Given the description of an element on the screen output the (x, y) to click on. 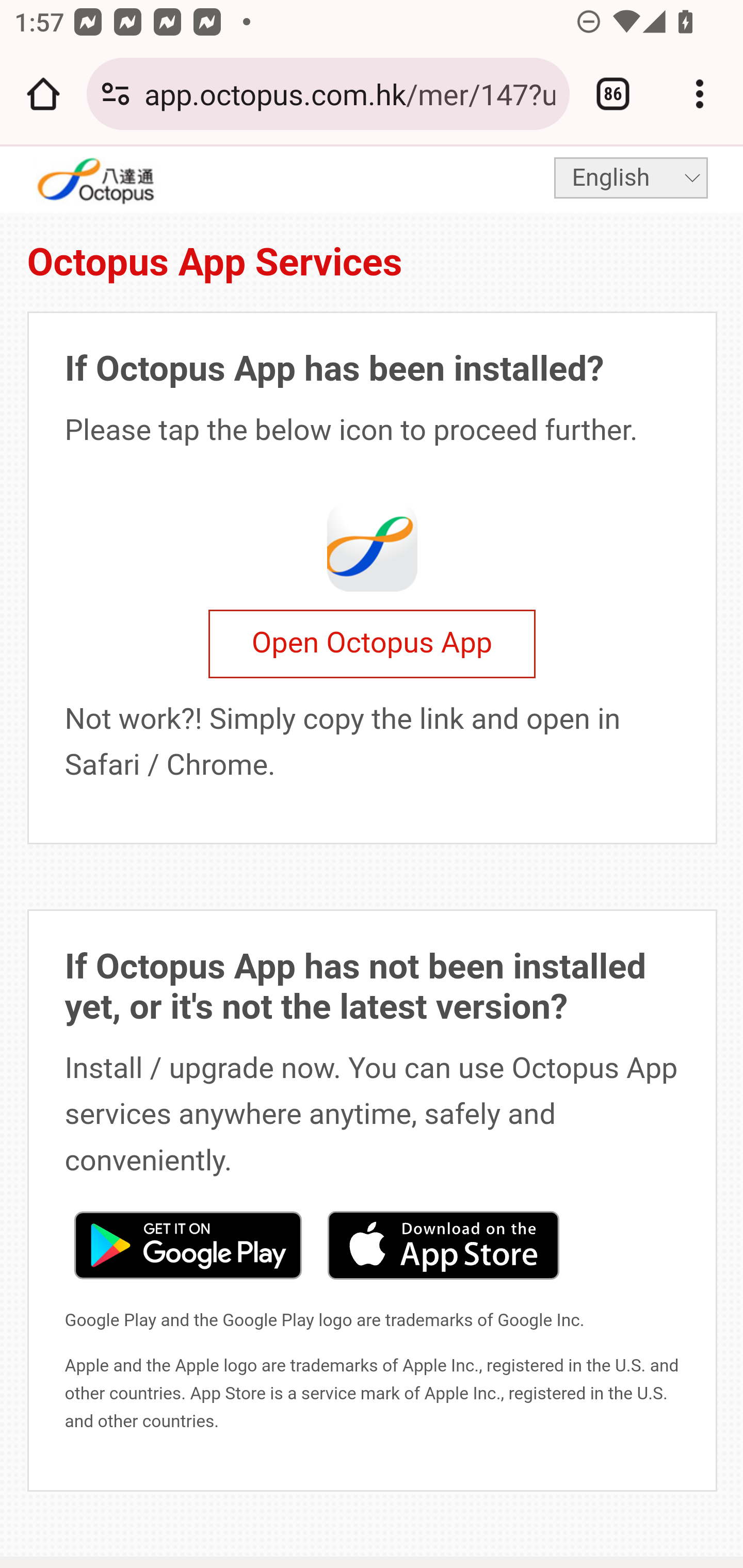
Open the home page (43, 93)
Connection is secure (115, 93)
Switch or close tabs (612, 93)
Customize and control Google Chrome (699, 93)
www.octopus.com (123, 180)
English (630, 177)
Open Octopus App (371, 643)
Get it on Google Play (187, 1243)
Download on the App Store (443, 1243)
